Given the description of an element on the screen output the (x, y) to click on. 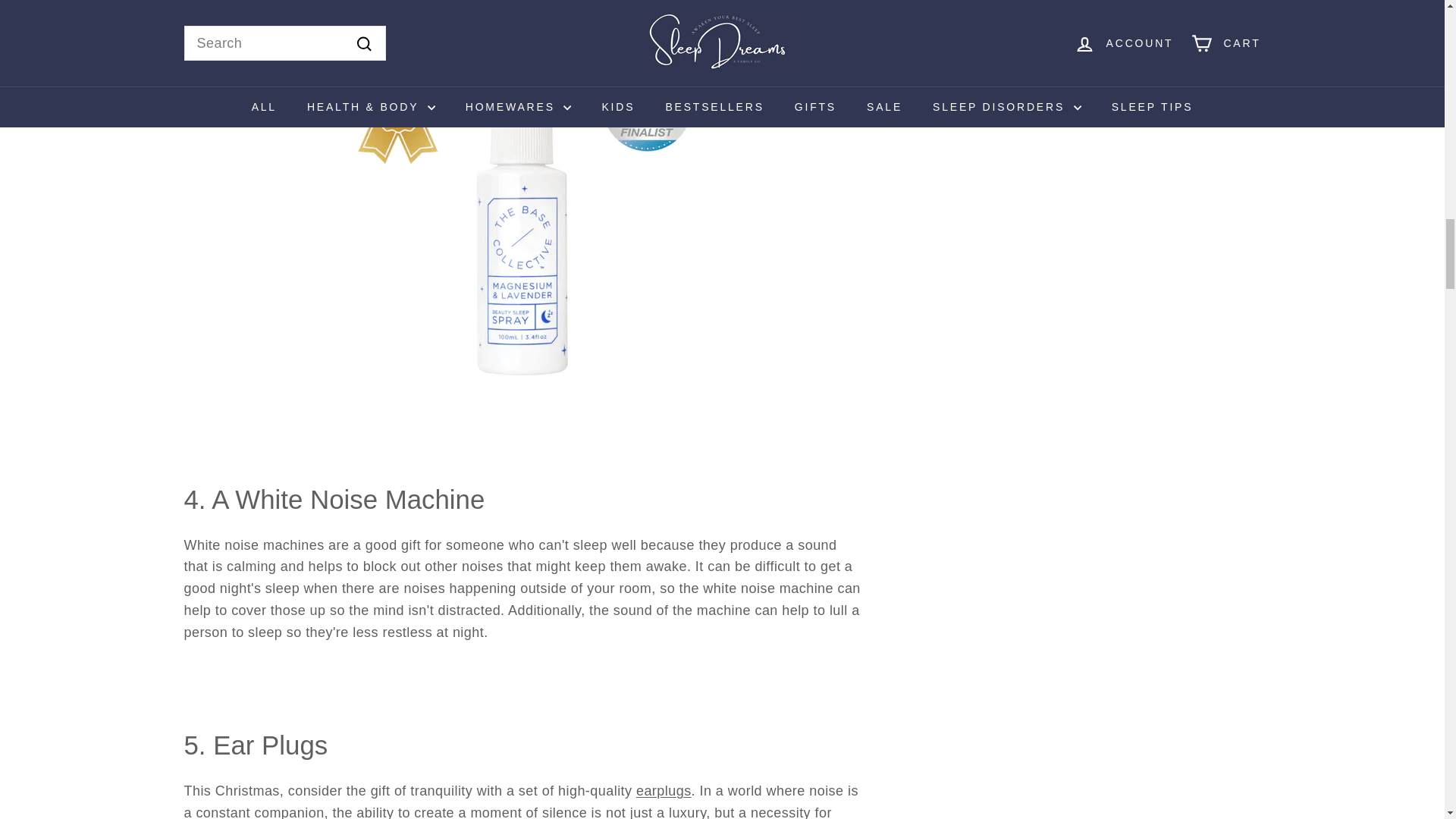
earplugs (663, 790)
